Given the description of an element on the screen output the (x, y) to click on. 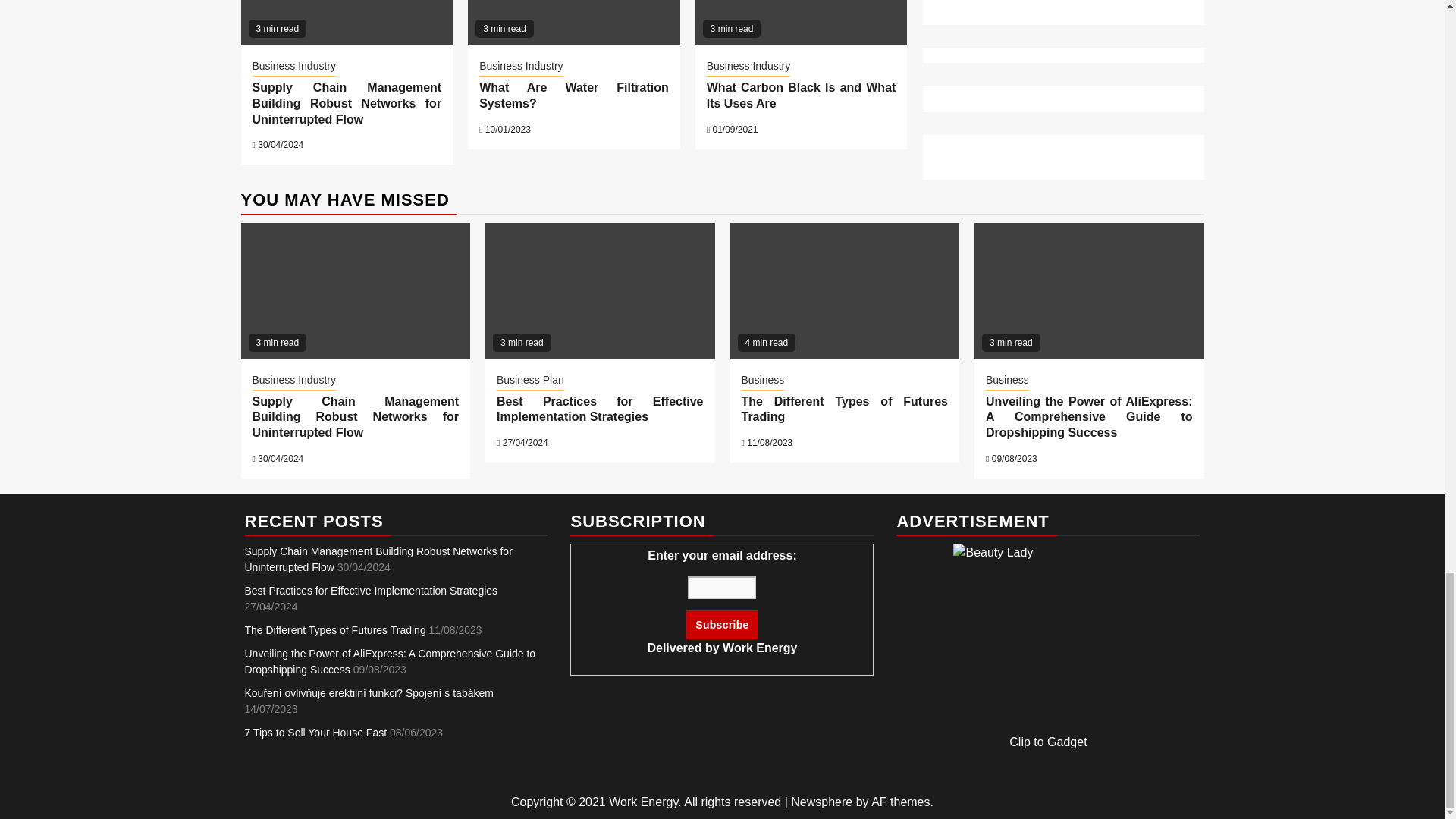
Business Industry (293, 67)
What Are Water Filtration Systems? (573, 95)
Subscribe (721, 624)
What Are Water Filtration Systems? (573, 22)
Business Industry (521, 67)
What Carbon Black Is and What Its Uses Are (801, 95)
What Carbon Black Is and What Its Uses Are (801, 22)
Business Industry (748, 67)
